Given the description of an element on the screen output the (x, y) to click on. 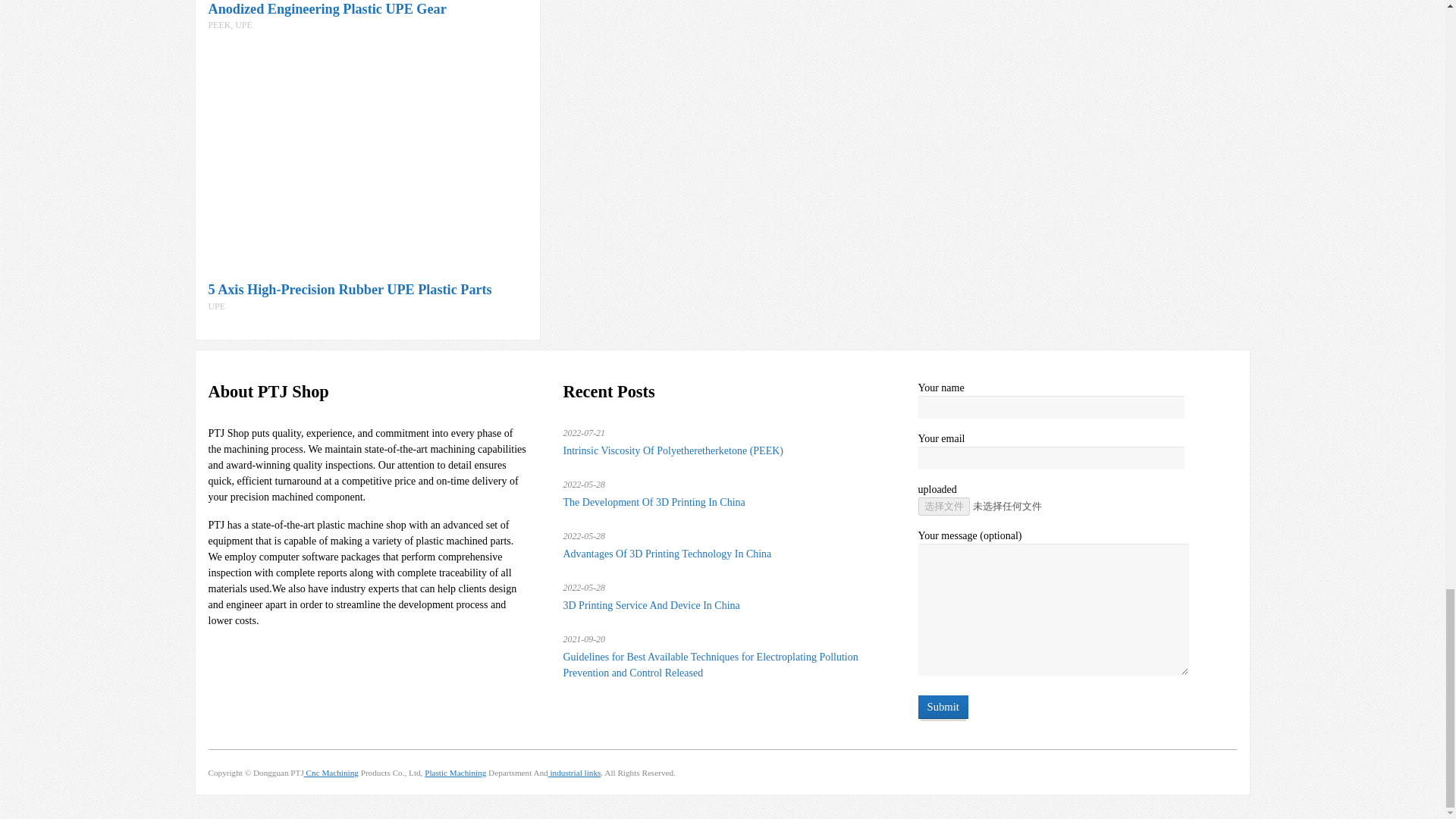
Submit (942, 707)
